Given the description of an element on the screen output the (x, y) to click on. 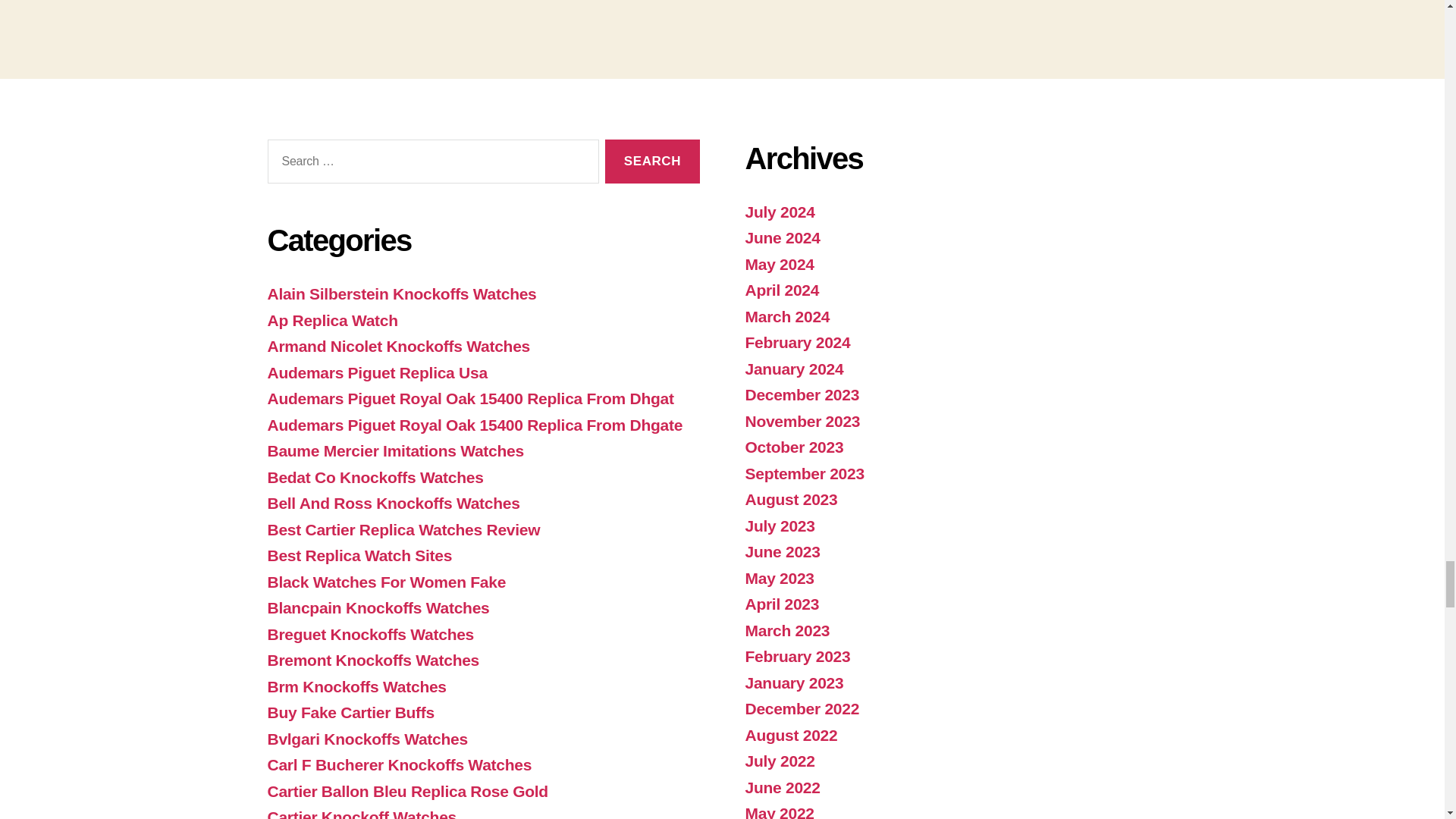
Search (651, 161)
Audemars Piguet Royal Oak 15400 Replica From Dhgate (474, 425)
Search (651, 161)
Bedat Co Knockoffs Watches (374, 477)
Search (651, 161)
Best Cartier Replica Watches Review (403, 529)
Baume Mercier Imitations Watches (394, 450)
Bell And Ross Knockoffs Watches (392, 502)
Audemars Piguet Replica Usa (376, 372)
Alain Silberstein Knockoffs Watches (400, 293)
Armand Nicolet Knockoffs Watches (397, 345)
Ap Replica Watch (331, 320)
Audemars Piguet Royal Oak 15400 Replica From Dhgat (469, 398)
